Given the description of an element on the screen output the (x, y) to click on. 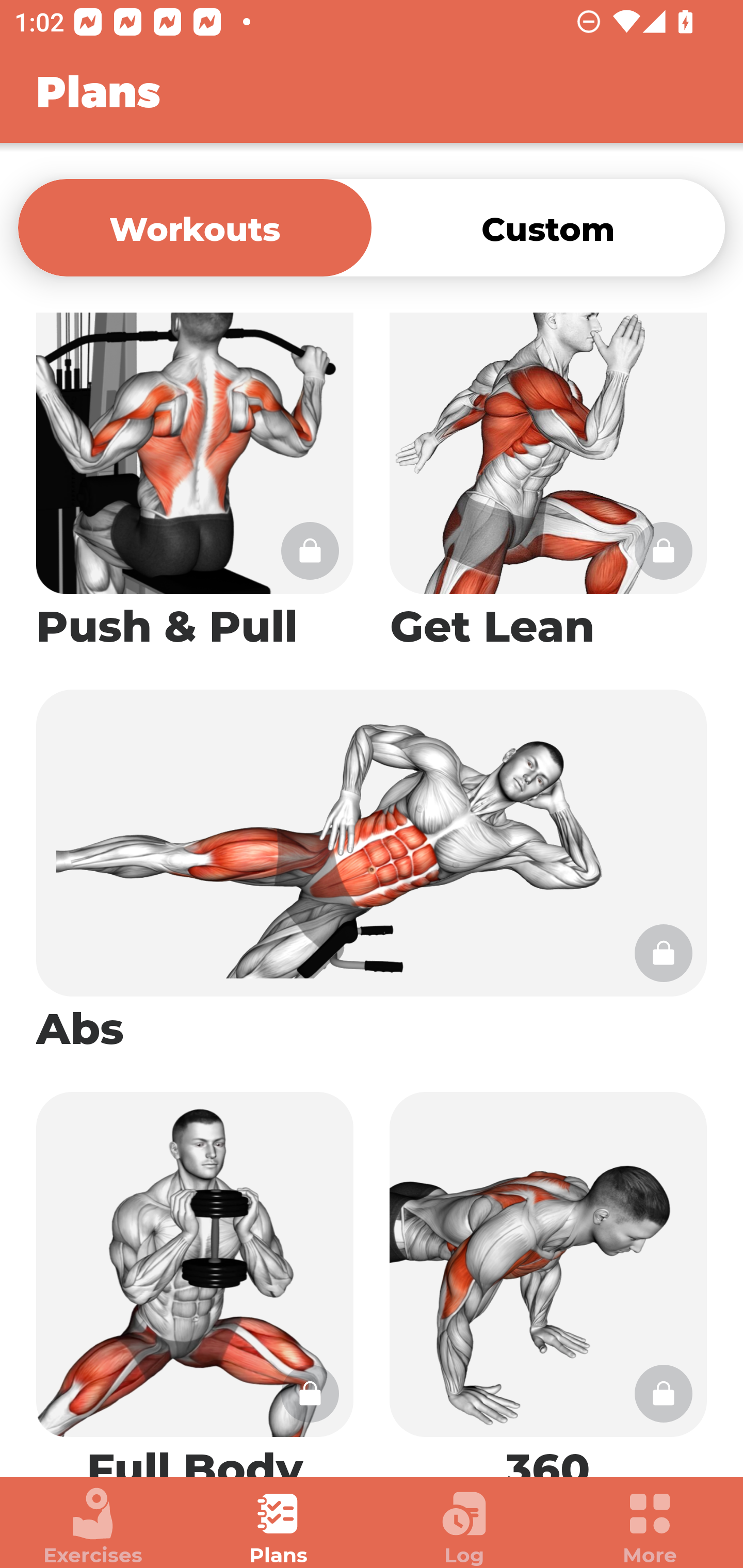
Workouts (194, 226)
Custom (548, 226)
Push & Pull (194, 491)
Get Lean (548, 491)
Abs (371, 872)
Full Body Split (194, 1275)
360 Challenge (548, 1275)
Exercises (92, 1527)
Plans (278, 1527)
Log (464, 1527)
More (650, 1527)
